Given the description of an element on the screen output the (x, y) to click on. 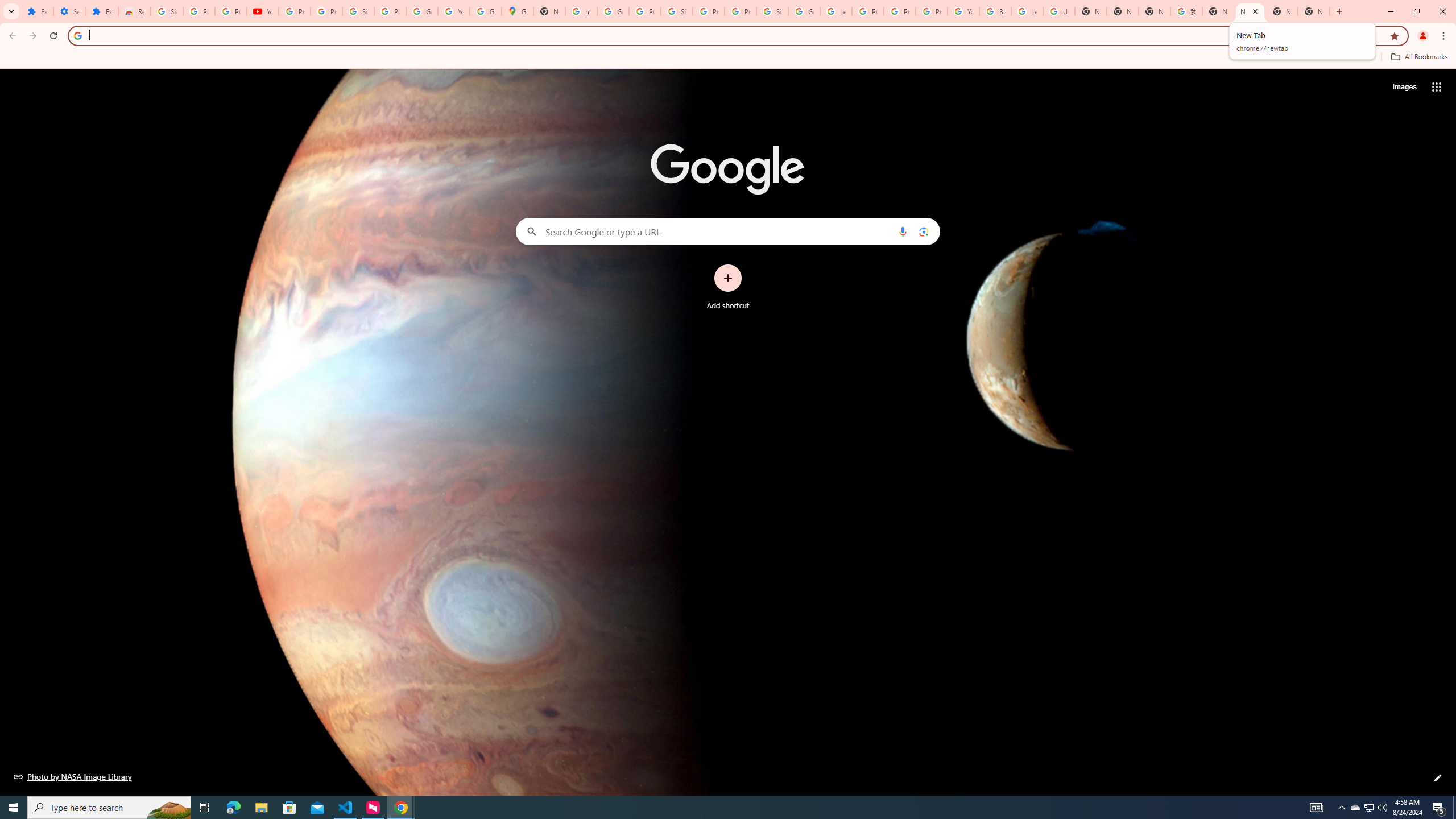
Google Account (421, 11)
Sign in - Google Accounts (166, 11)
Google Maps (517, 11)
Customize this page (1437, 778)
Privacy Help Center - Policies Help (899, 11)
Extensions (101, 11)
YouTube (262, 11)
